Given the description of an element on the screen output the (x, y) to click on. 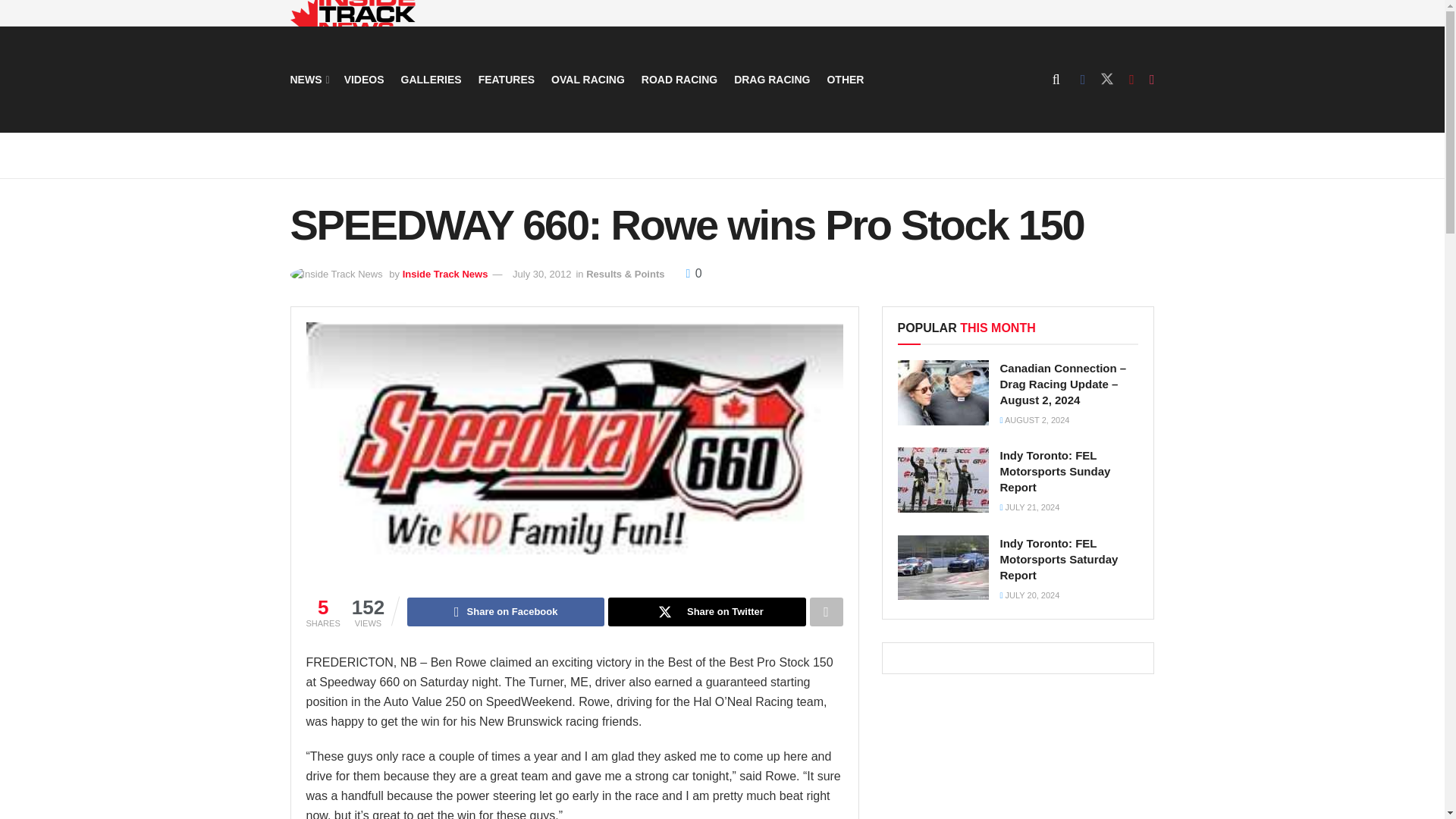
FEATURES (506, 79)
OTHER (845, 79)
NEWS (307, 79)
OVAL RACING (587, 79)
GALLERIES (431, 79)
VIDEOS (363, 79)
DRAG RACING (771, 79)
ROAD RACING (679, 79)
